Given the description of an element on the screen output the (x, y) to click on. 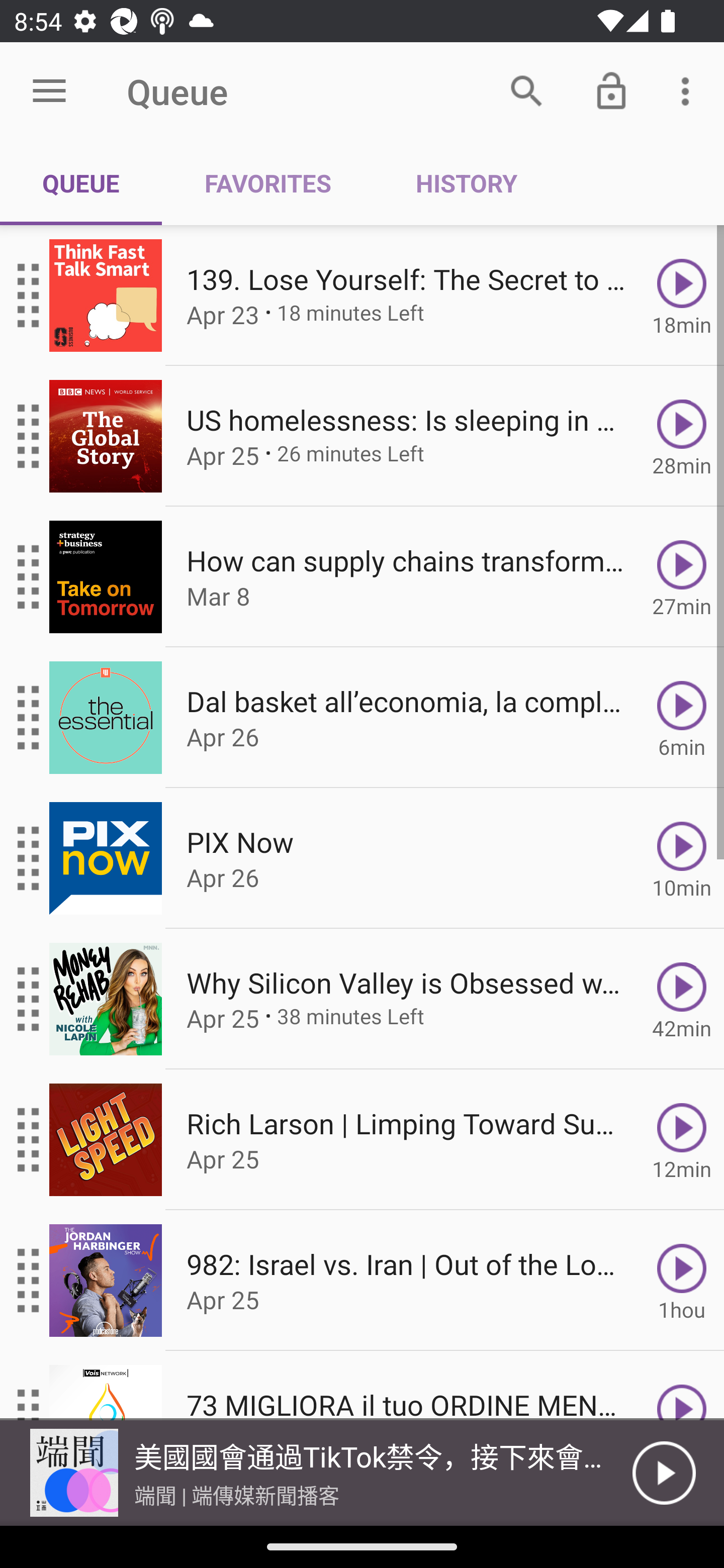
Open menu (49, 91)
Search (526, 90)
Lock Queue (611, 90)
More options (688, 90)
QUEUE (81, 183)
FAVORITES (267, 183)
HISTORY (465, 183)
Play 18min (681, 295)
Play 28min (681, 435)
Play 27min (681, 576)
Play 6min (681, 717)
Play 10min (681, 858)
Play 42min (681, 998)
Play 12min (681, 1139)
Play 1hou (681, 1280)
Play (681, 1385)
Picture 美國國會通過TikTok禁令，接下來會發生什麼？ 端聞 | 端傳媒新聞播客 (316, 1472)
Play (663, 1472)
